Given the description of an element on the screen output the (x, y) to click on. 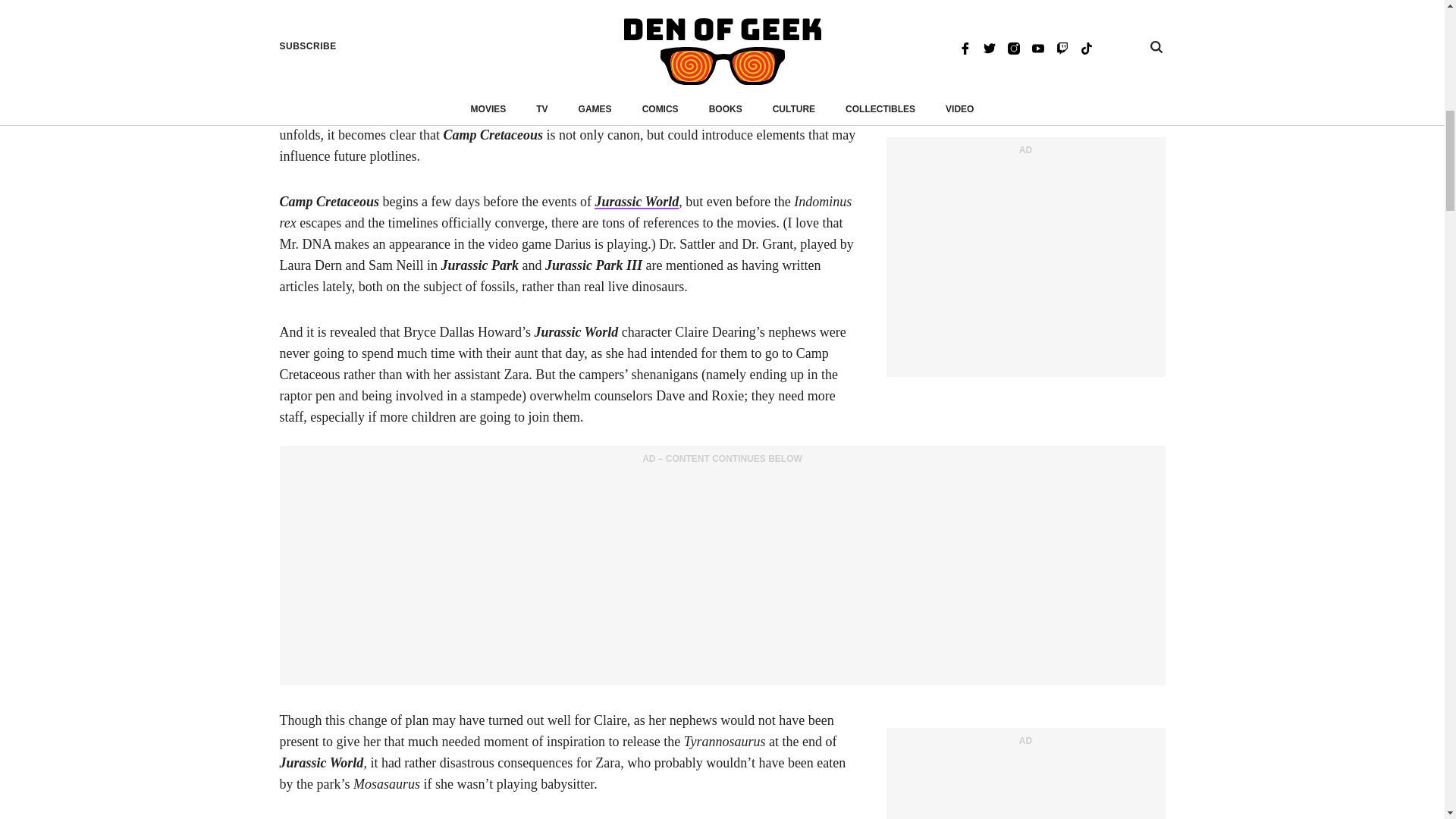
Jurassic World (636, 201)
Jurassic Park (587, 49)
Jurassic World: Camp Cretaceous (460, 28)
